Given the description of an element on the screen output the (x, y) to click on. 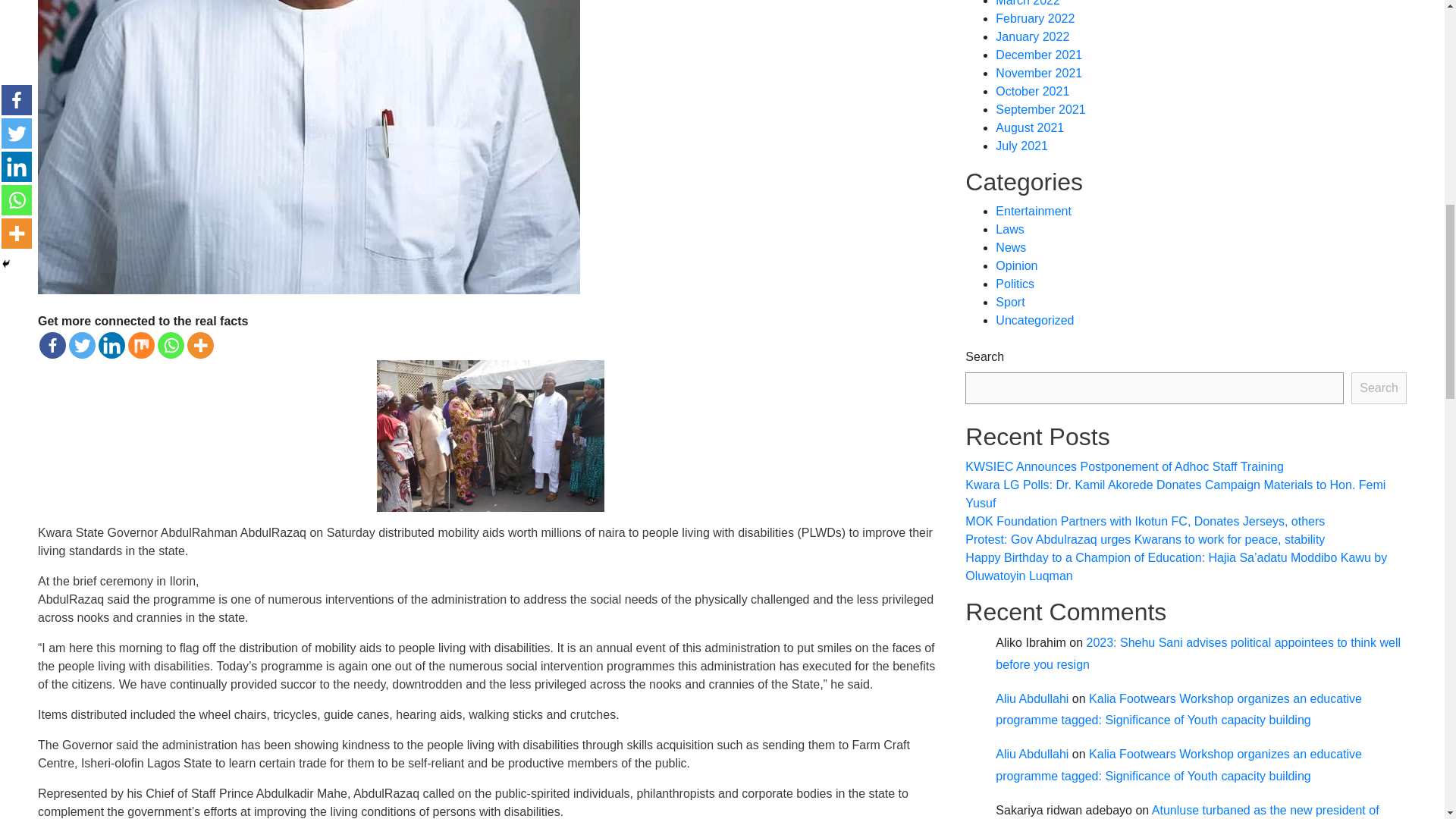
More (200, 345)
Facebook (52, 345)
Twitter (82, 345)
Whatsapp (170, 345)
Linkedin (112, 345)
Mix (141, 345)
